Given the description of an element on the screen output the (x, y) to click on. 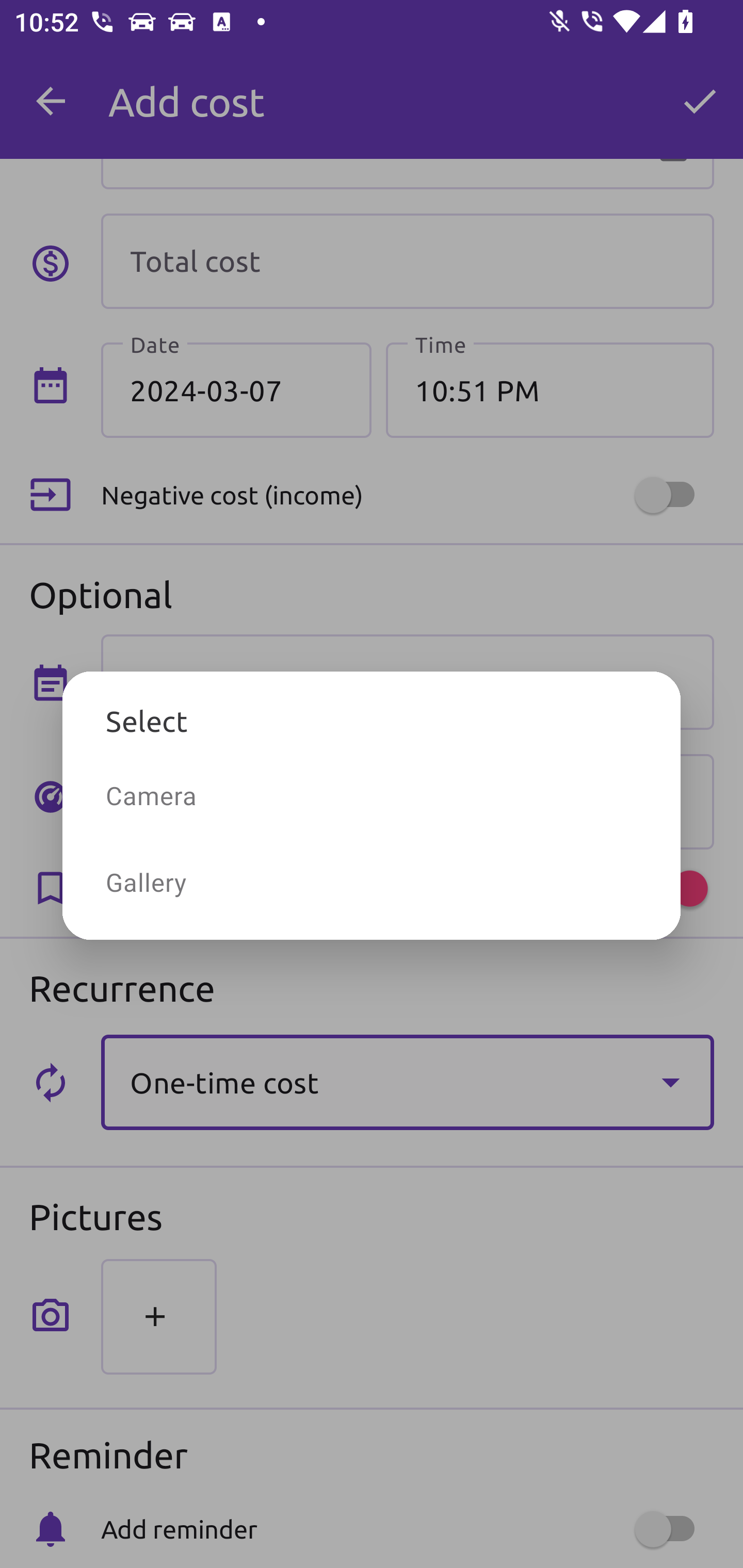
Camera (371, 795)
Gallery (371, 881)
